Given the description of an element on the screen output the (x, y) to click on. 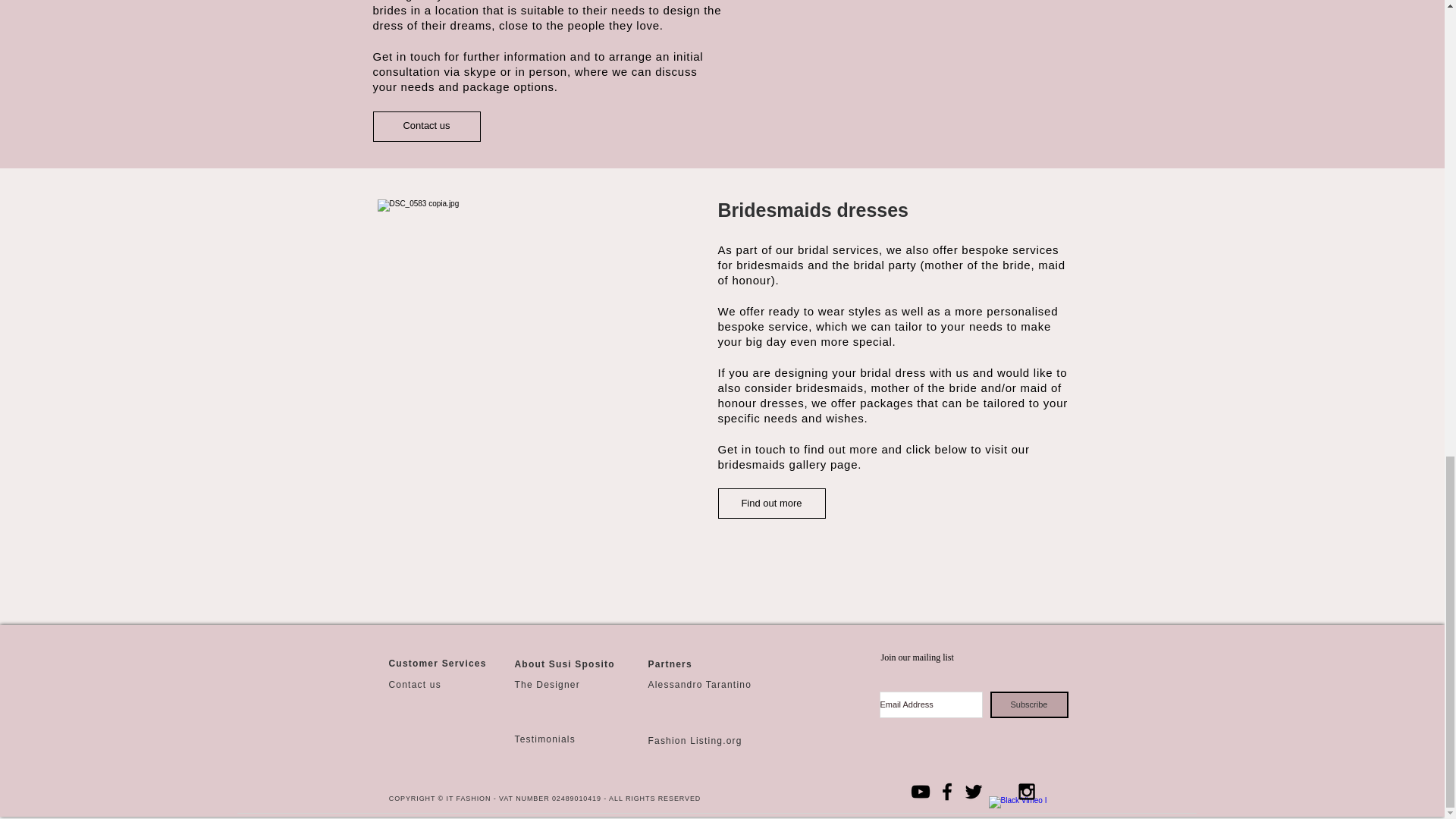
The Designer (546, 684)
Contact us (426, 125)
Contact us (414, 684)
Alessandro Tarantino (699, 684)
Find out more (771, 503)
Subscribe (1029, 704)
Fashion Listing.org (694, 740)
Testimonials (544, 738)
